Given the description of an element on the screen output the (x, y) to click on. 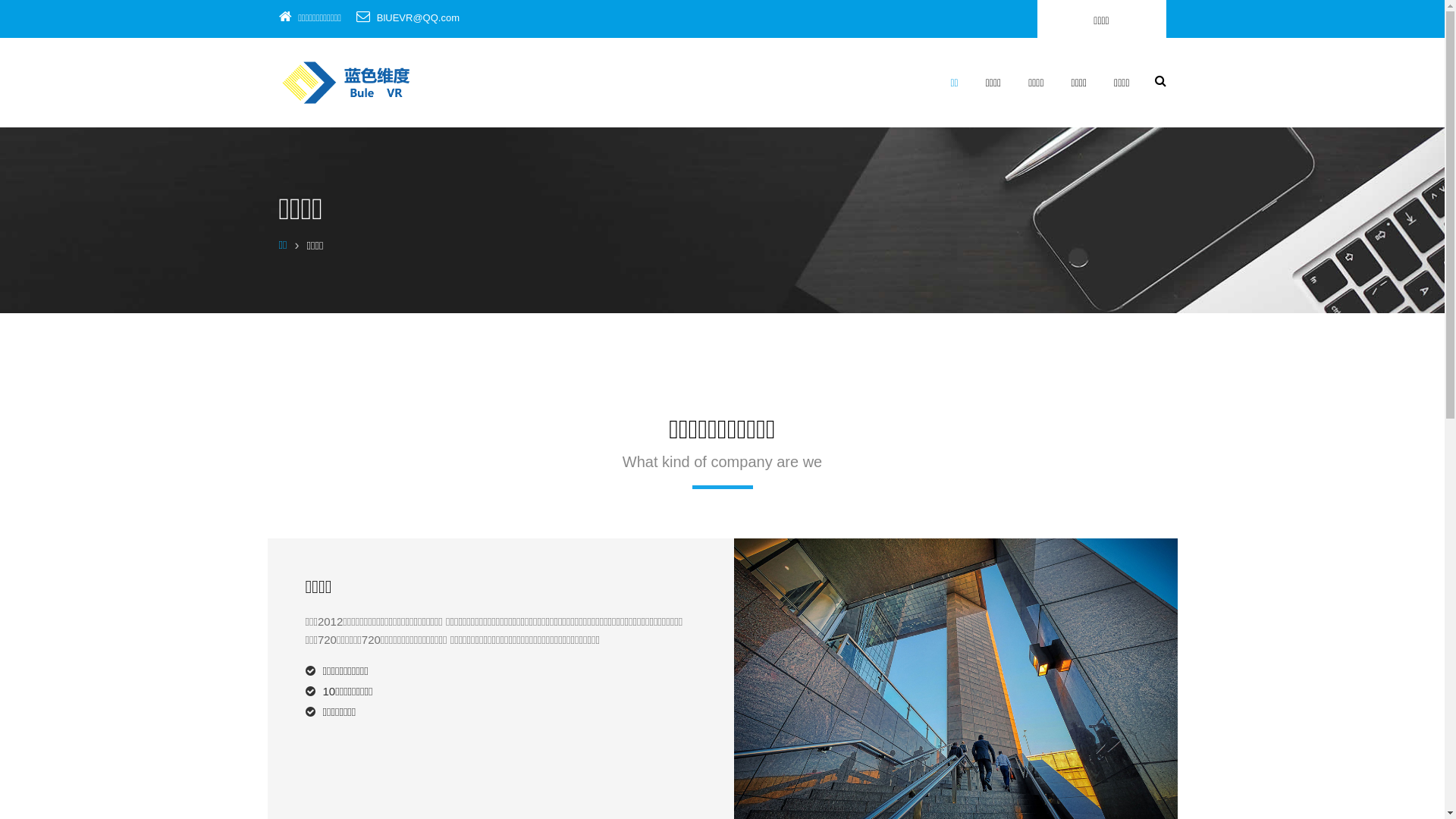
BlUEVR@QQ.com Element type: text (417, 17)
